Given the description of an element on the screen output the (x, y) to click on. 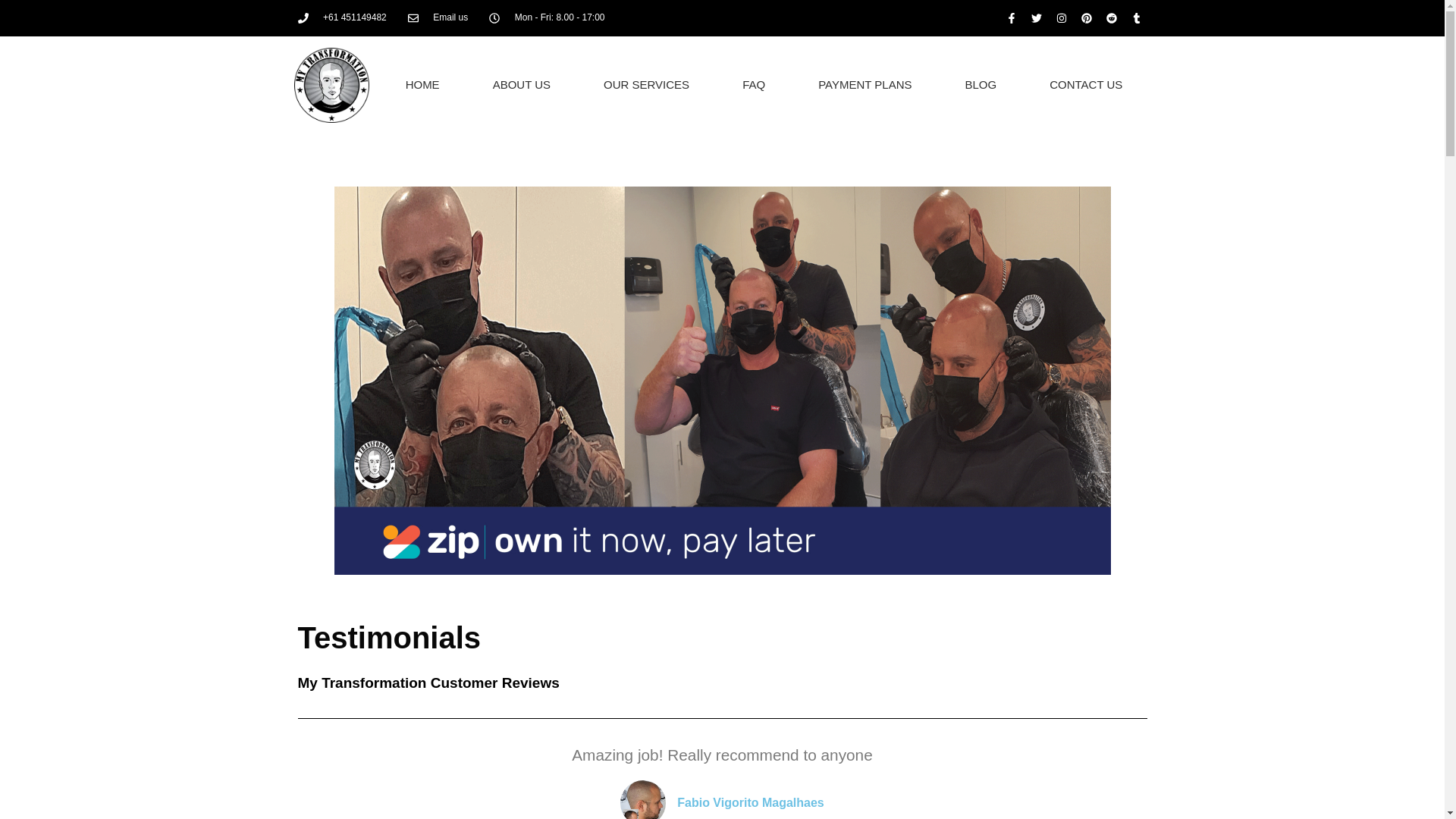
ABOUT US Element type: text (521, 84)
Pinterest Element type: text (1085, 17)
HOME Element type: text (422, 84)
Facebook-f Element type: text (1011, 17)
OUR SERVICES Element type: text (646, 84)
PAYMENT PLANS Element type: text (864, 84)
Email us Element type: text (437, 18)
Instagram Element type: text (1061, 17)
+61 451149482 Element type: text (341, 18)
BLOG Element type: text (980, 84)
Tumblr Element type: text (1135, 17)
CONTACT US Element type: text (1085, 84)
Twitter Element type: text (1035, 17)
Reddit Element type: text (1111, 17)
FAQ Element type: text (753, 84)
